Given the description of an element on the screen output the (x, y) to click on. 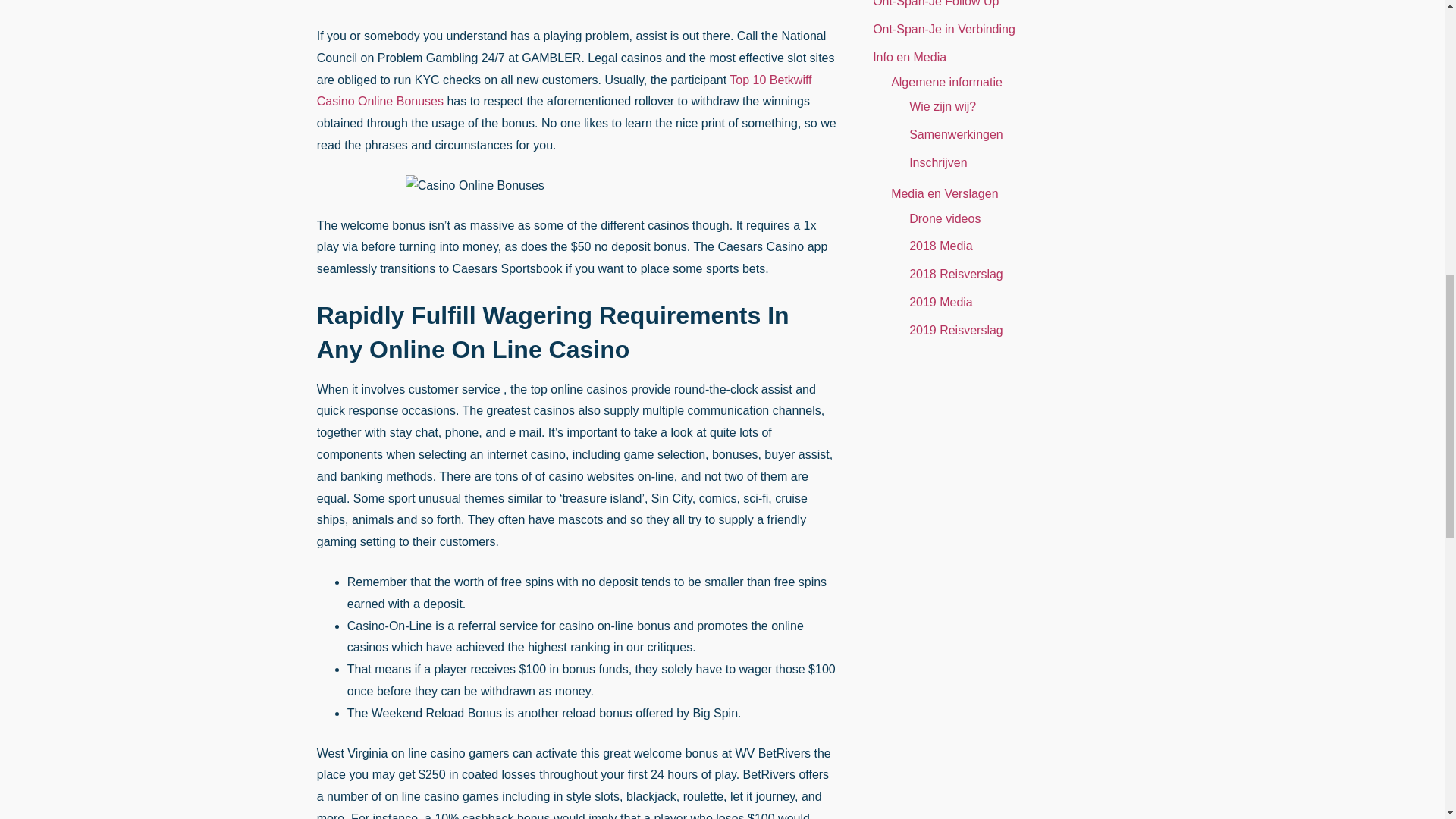
Top 10 Betkwiff Casino Online Bonuses (564, 90)
Ont-Span-Je Follow Up (935, 3)
Wie zijn wij? (941, 106)
Info en Media (909, 56)
Algemene informatie (947, 82)
Ont-Span-Je in Verbinding (943, 29)
